Given the description of an element on the screen output the (x, y) to click on. 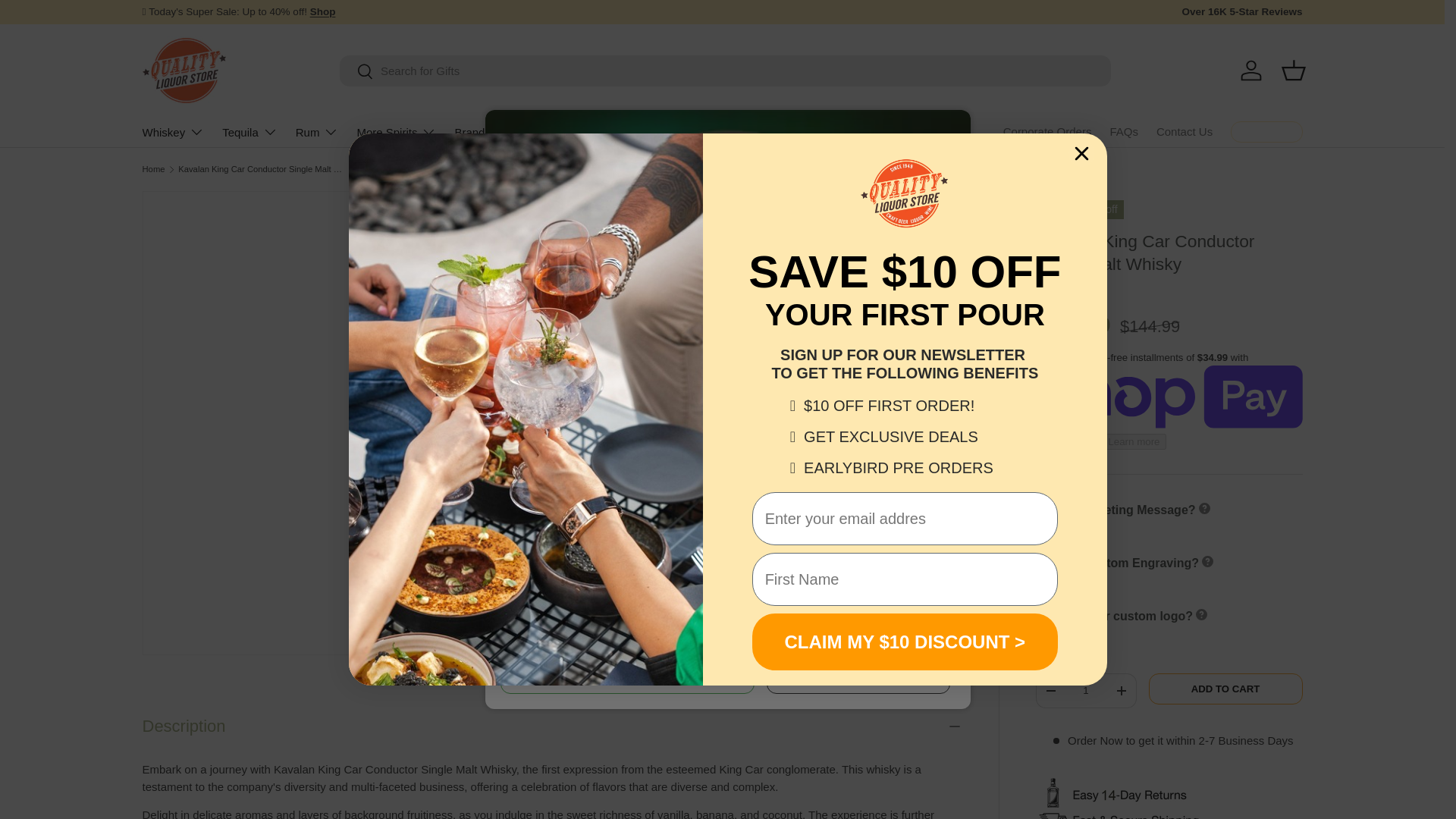
More Spirits (395, 132)
Whiskey (173, 132)
Rum (317, 132)
Over 16K 5-Star Reviews (1240, 11)
Search (356, 72)
Log in (1251, 70)
Tequila (250, 132)
Shop (323, 11)
1 (1085, 690)
Basket (1293, 70)
SALE (323, 11)
SKIP TO CONTENT (68, 21)
